Given the description of an element on the screen output the (x, y) to click on. 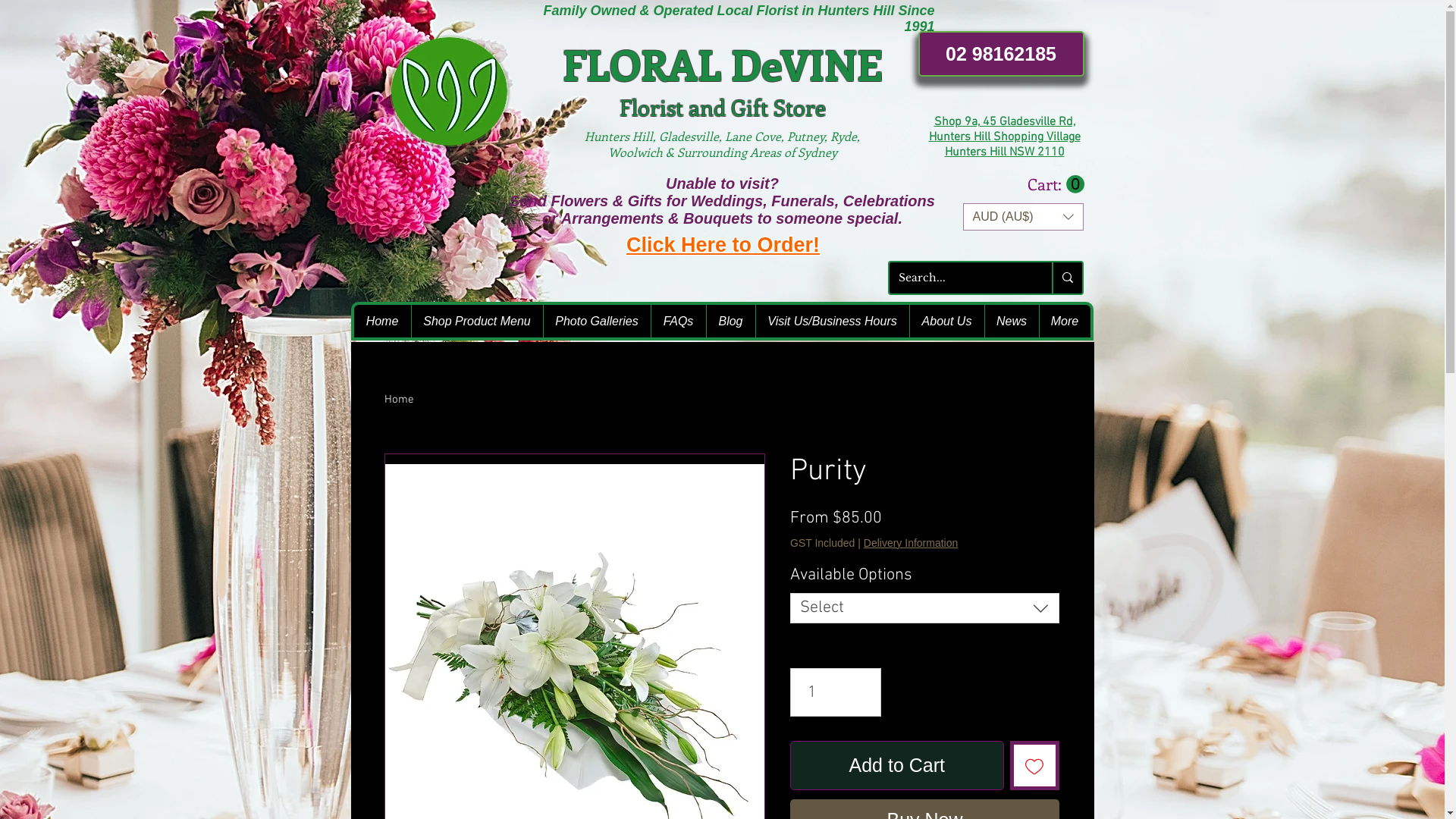
0
Cart: Element type: text (1054, 184)
Click Here to Order! Element type: text (722, 244)
Blog Element type: text (729, 320)
About Us Element type: text (945, 320)
Add to Cart Element type: text (897, 765)
Delivery Information Element type: text (910, 542)
Floral DeVine Florist Hunters Hill NSW A Element type: hover (448, 91)
Select Element type: text (924, 608)
02 98162185 Element type: text (1000, 53)
FAQs Element type: text (678, 320)
AUD (AU$) Element type: text (1023, 216)
News Element type: text (1011, 320)
Visit Us/Business Hours Element type: text (832, 320)
Home Element type: text (399, 399)
Home Element type: text (381, 320)
Photo Galleries Element type: text (596, 320)
Shop Product Menu Element type: text (476, 320)
